Given the description of an element on the screen output the (x, y) to click on. 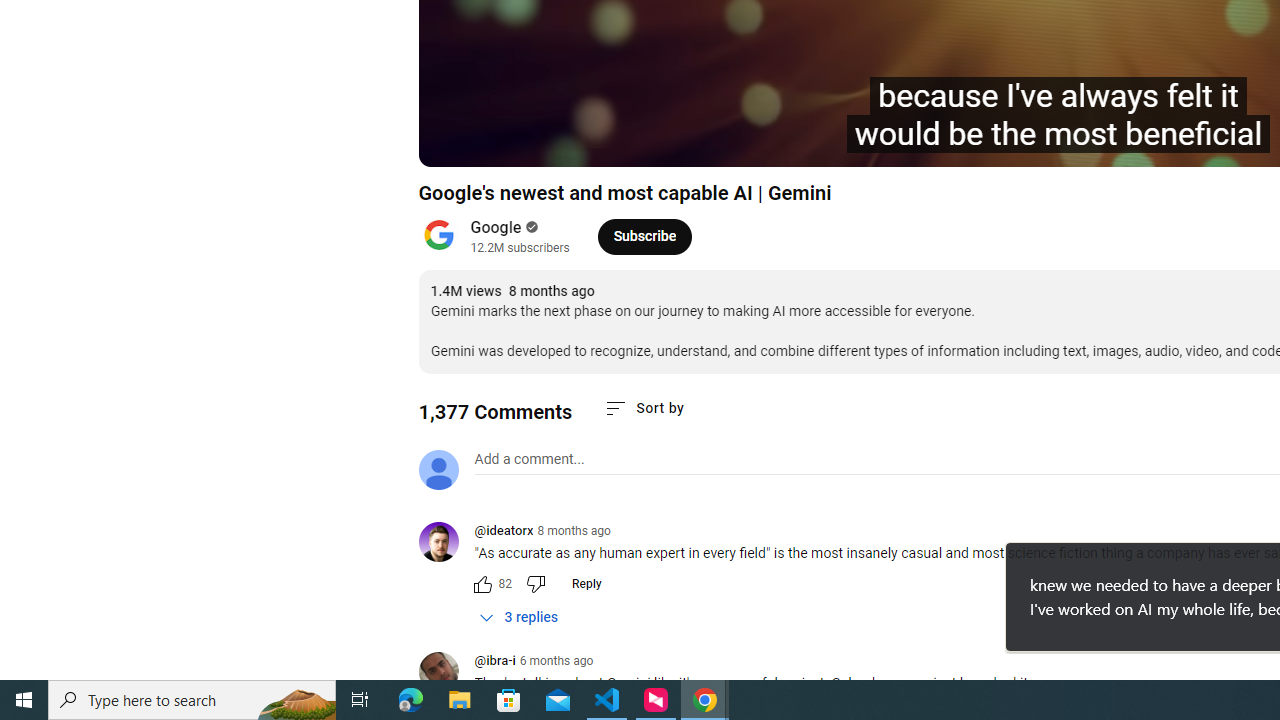
@ibra-i (494, 661)
@ibra-i (446, 673)
Next (SHIFT+n) (546, 142)
Play (k) (502, 142)
Dislike this comment (534, 583)
Mute (m) (594, 142)
Default profile photo (438, 470)
3 replies (518, 617)
8 months ago (573, 531)
Sort comments (644, 408)
Reply (586, 583)
@ideatorx (446, 543)
